Given the description of an element on the screen output the (x, y) to click on. 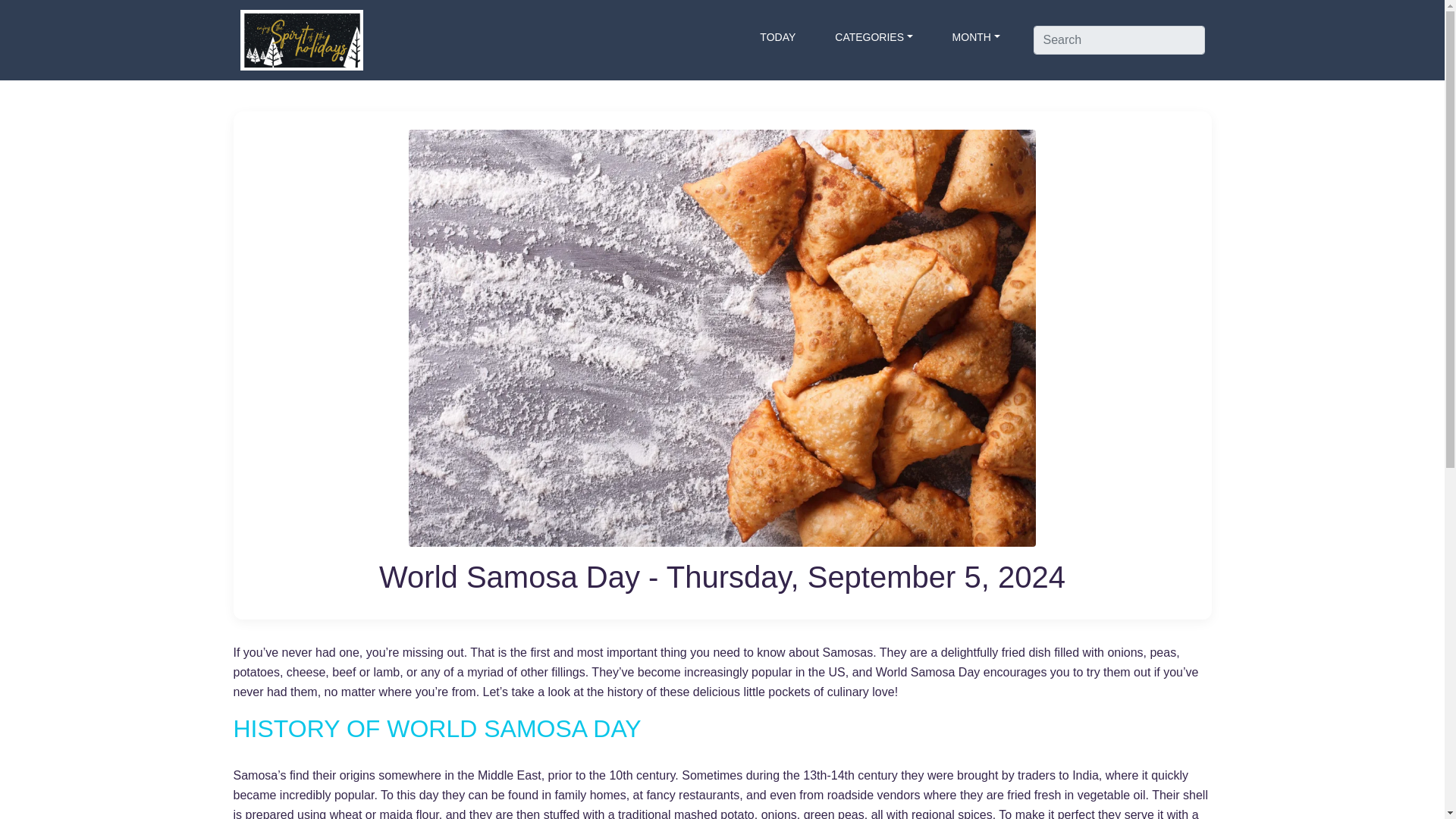
CATEGORIES (873, 36)
TODAY (778, 36)
MONTH (976, 36)
